Given the description of an element on the screen output the (x, y) to click on. 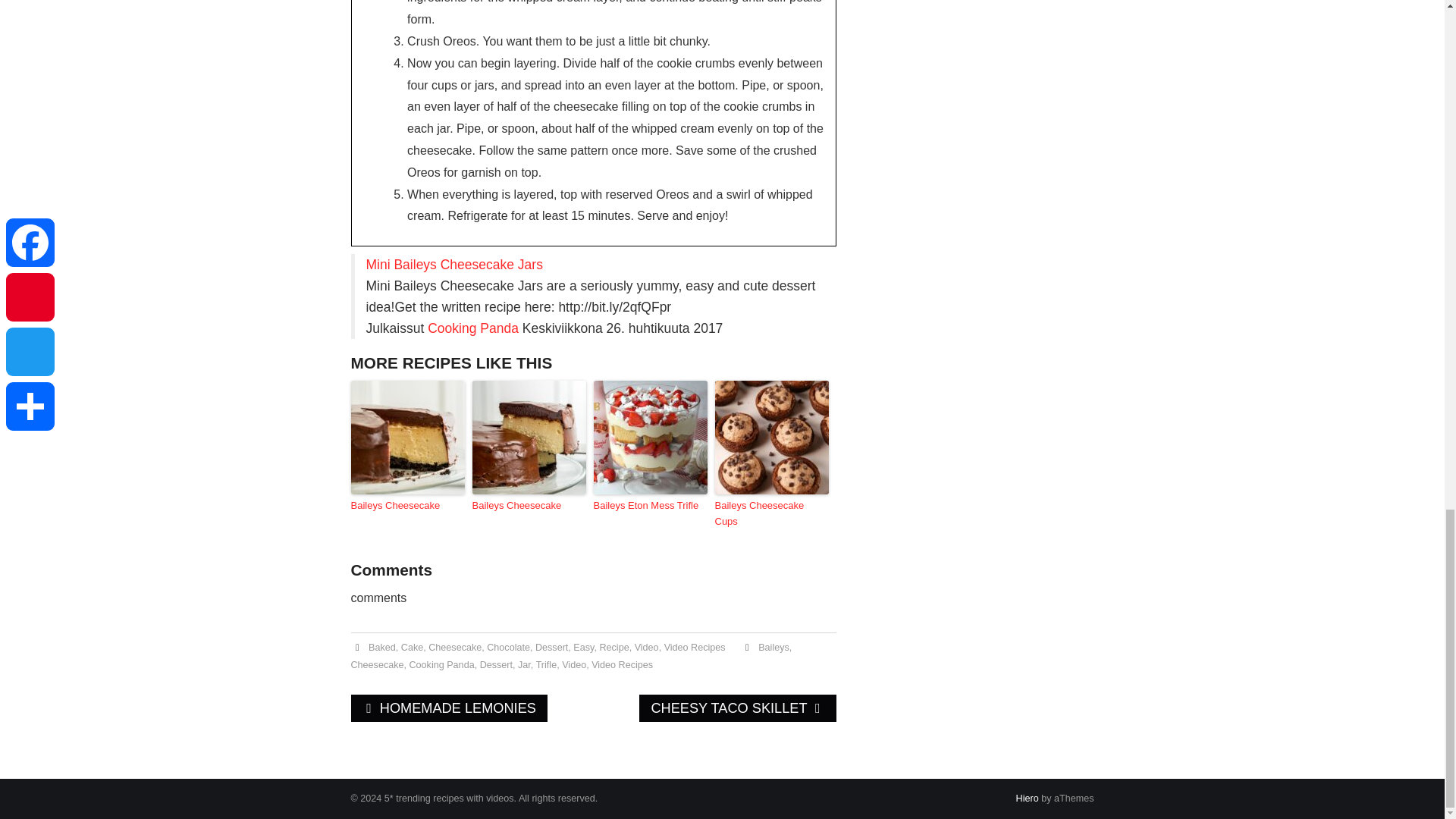
Easy (583, 647)
Chocolate (507, 647)
Dessert (551, 647)
Cheesecake (376, 665)
Dessert (496, 665)
Cooking Panda (473, 328)
Video (646, 647)
Recipe (613, 647)
Baileys Eton Mess Trifle (649, 505)
Baked (382, 647)
